Given the description of an element on the screen output the (x, y) to click on. 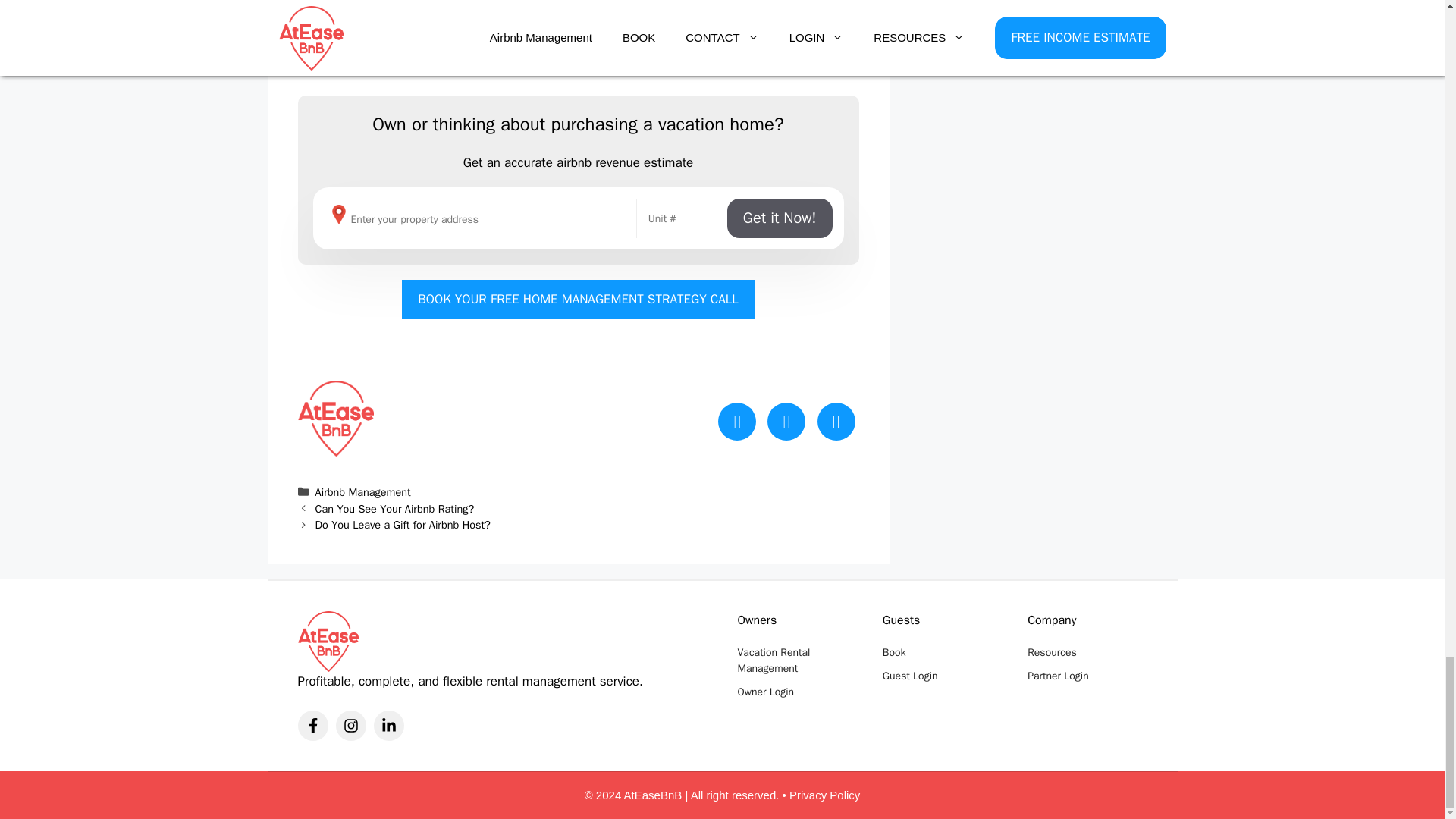
BOOK YOUR FREE HOME MANAGEMENT STRATEGY CALL (577, 299)
Airbnb Management (362, 491)
Can You See Your Airbnb Rating? (394, 508)
Get it Now! (779, 218)
Do You Leave a Gift for Airbnb Host? (402, 524)
